Given the description of an element on the screen output the (x, y) to click on. 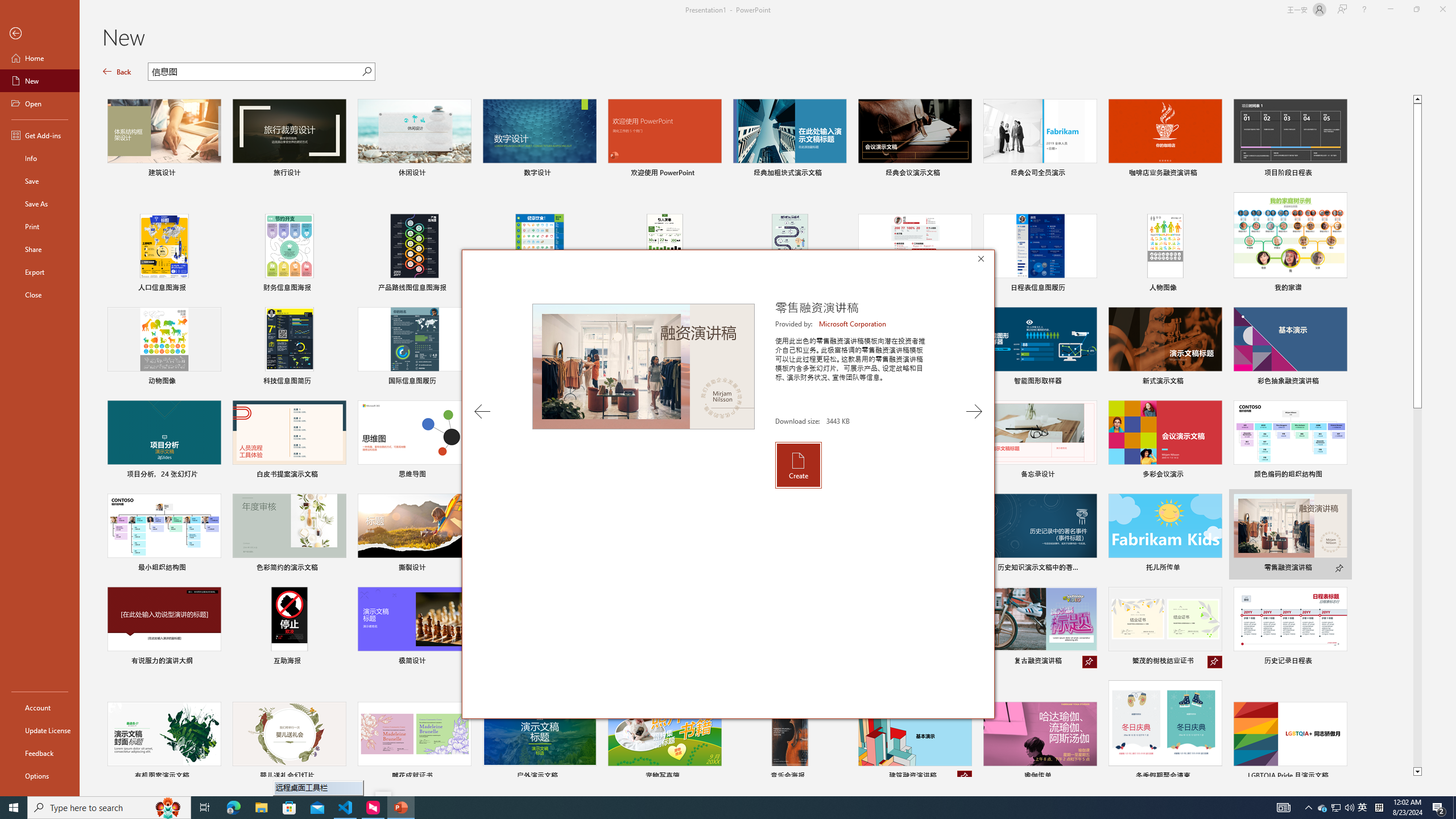
Print (40, 225)
Info (40, 157)
New (40, 80)
